Given the description of an element on the screen output the (x, y) to click on. 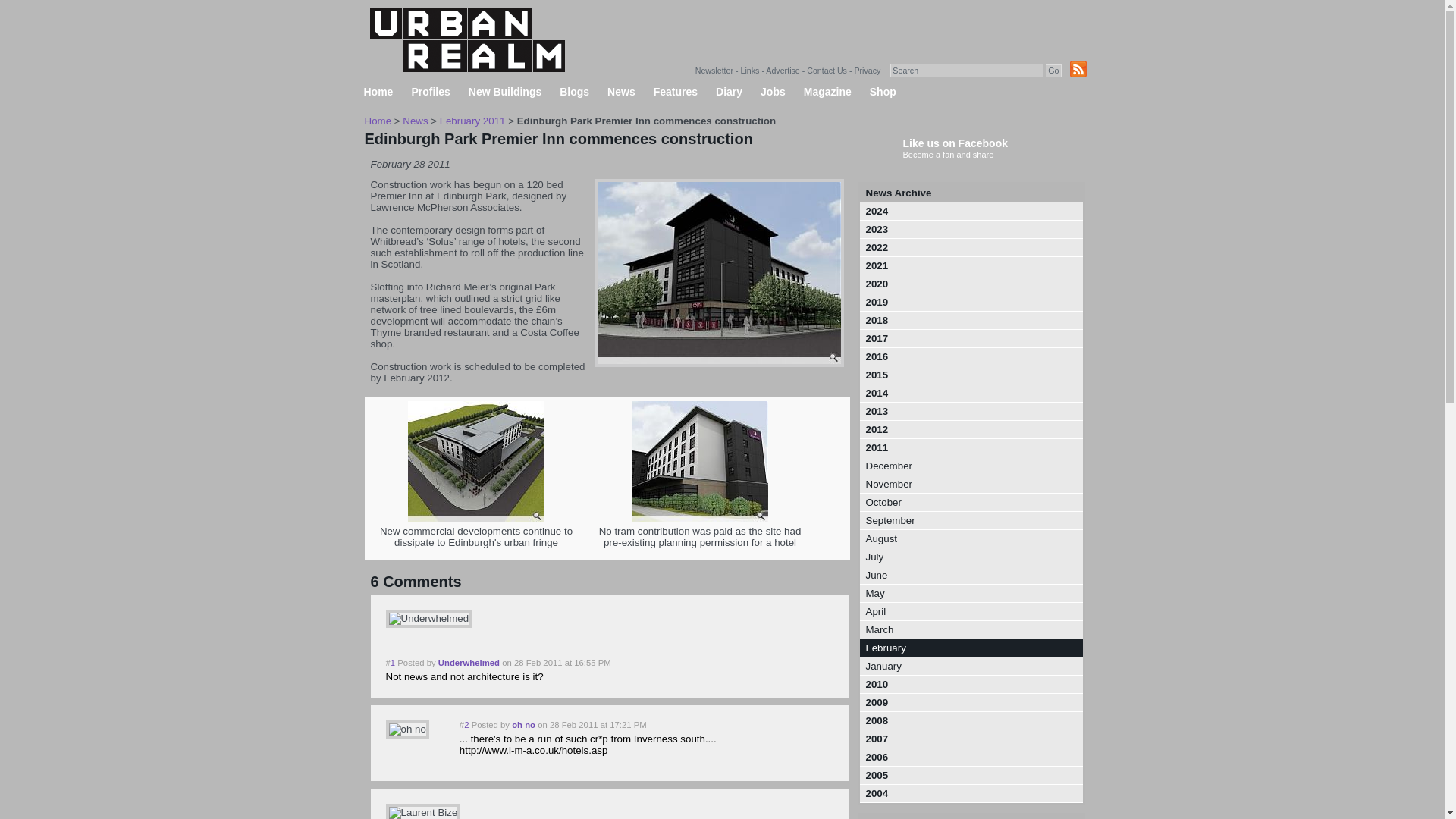
Profiles (429, 92)
Blogs (574, 92)
Home (377, 120)
Advertise (782, 70)
News (415, 120)
Go (1053, 70)
Jobs (772, 92)
Edinburgh Park Premier Inn commences construction (718, 363)
Contact Us (826, 70)
Search (966, 69)
Magazine (827, 92)
Links (750, 70)
